Given the description of an element on the screen output the (x, y) to click on. 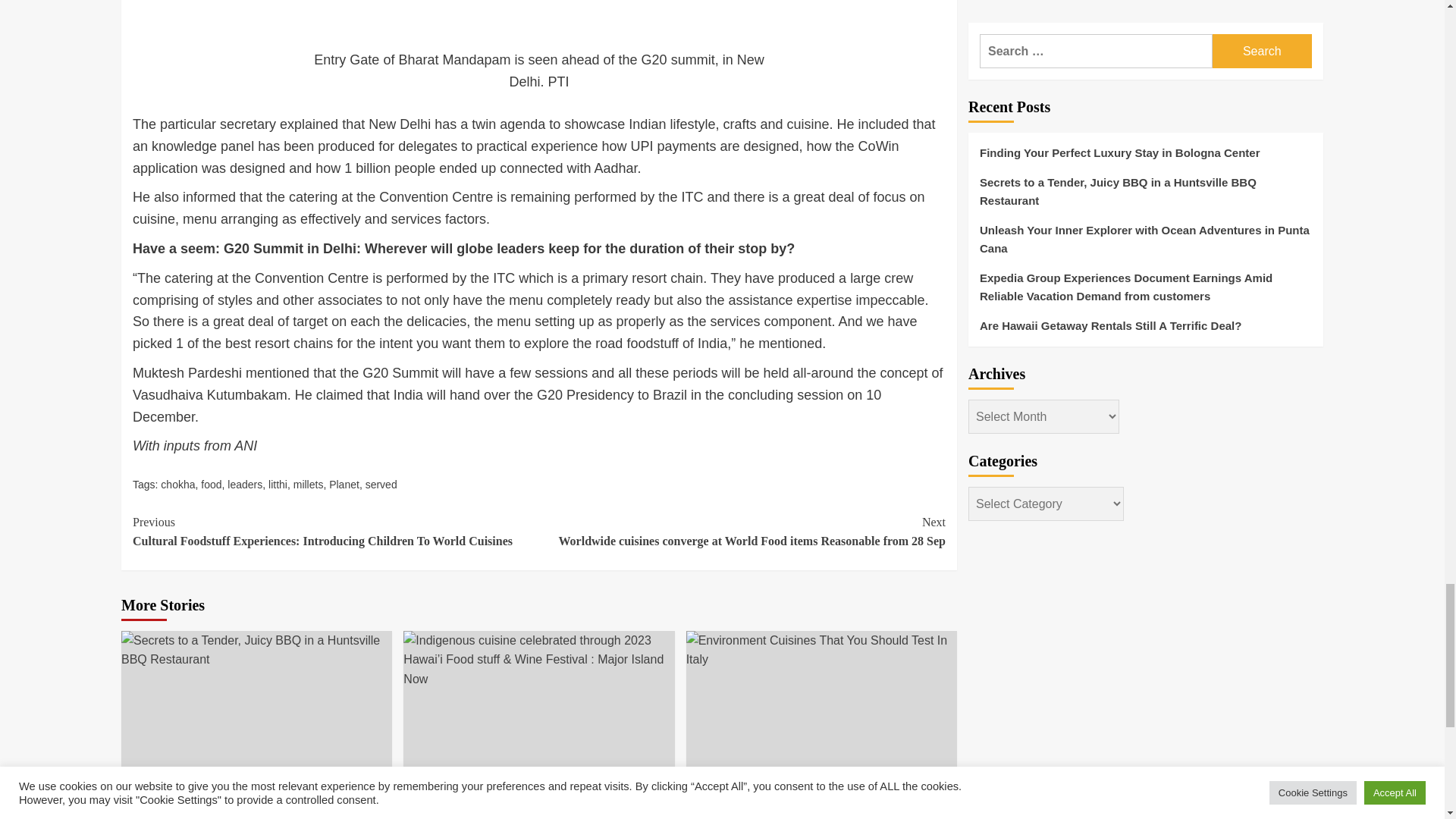
served (381, 484)
litthi (276, 484)
leaders (244, 484)
millets (308, 484)
World Cuisines (446, 779)
Planet (344, 484)
Environment Cuisines That You Should Test In Italy (820, 649)
food (210, 484)
